Given the description of an element on the screen output the (x, y) to click on. 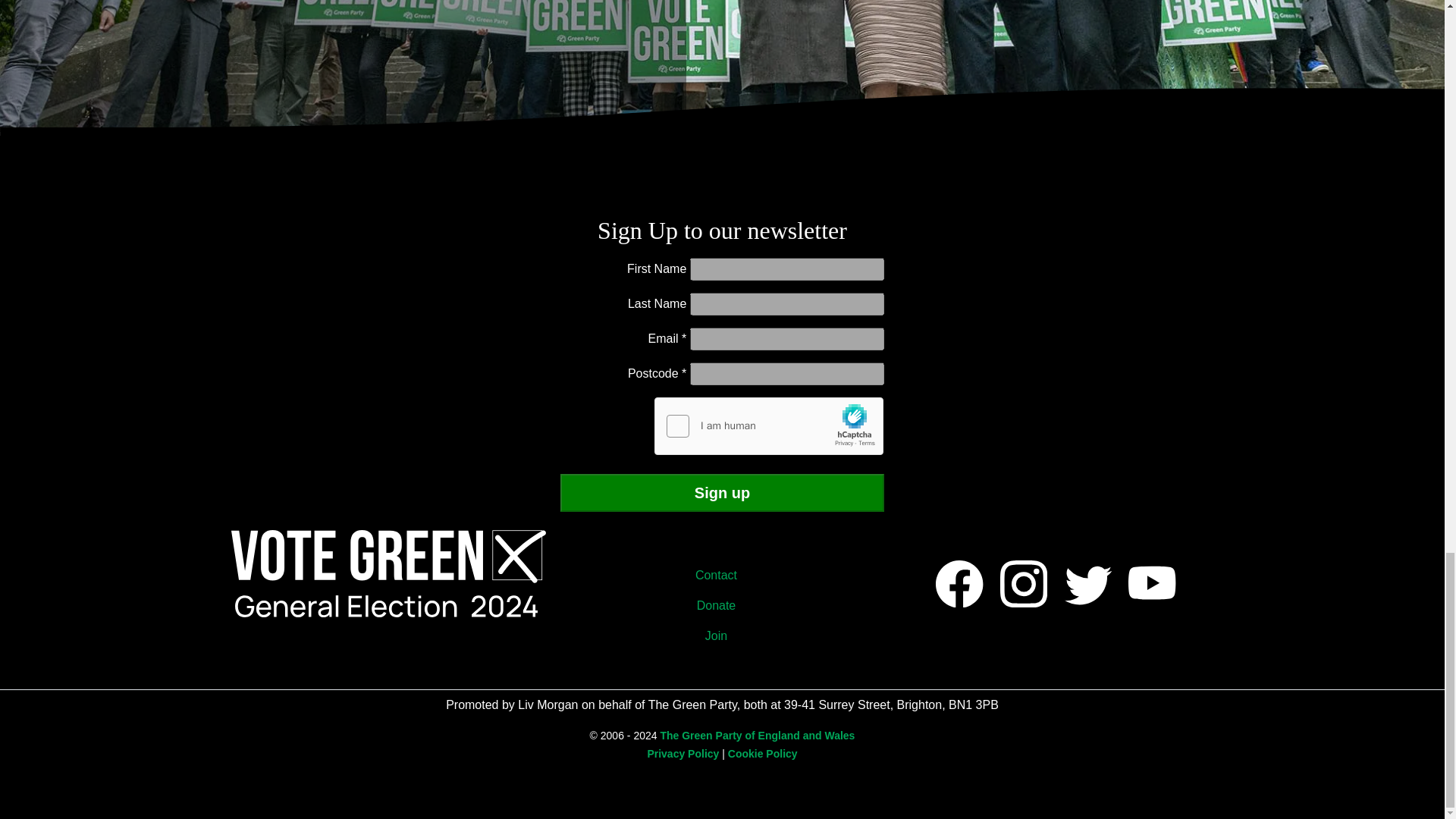
Contact (721, 575)
Privacy Policy (682, 753)
Widget containing checkbox for hCaptcha security challenge (768, 426)
Donate (721, 605)
Sign up (722, 492)
Cookie Policy (762, 753)
Join (721, 635)
The Green Party of England and Wales (756, 735)
Sign up (722, 492)
